Given the description of an element on the screen output the (x, y) to click on. 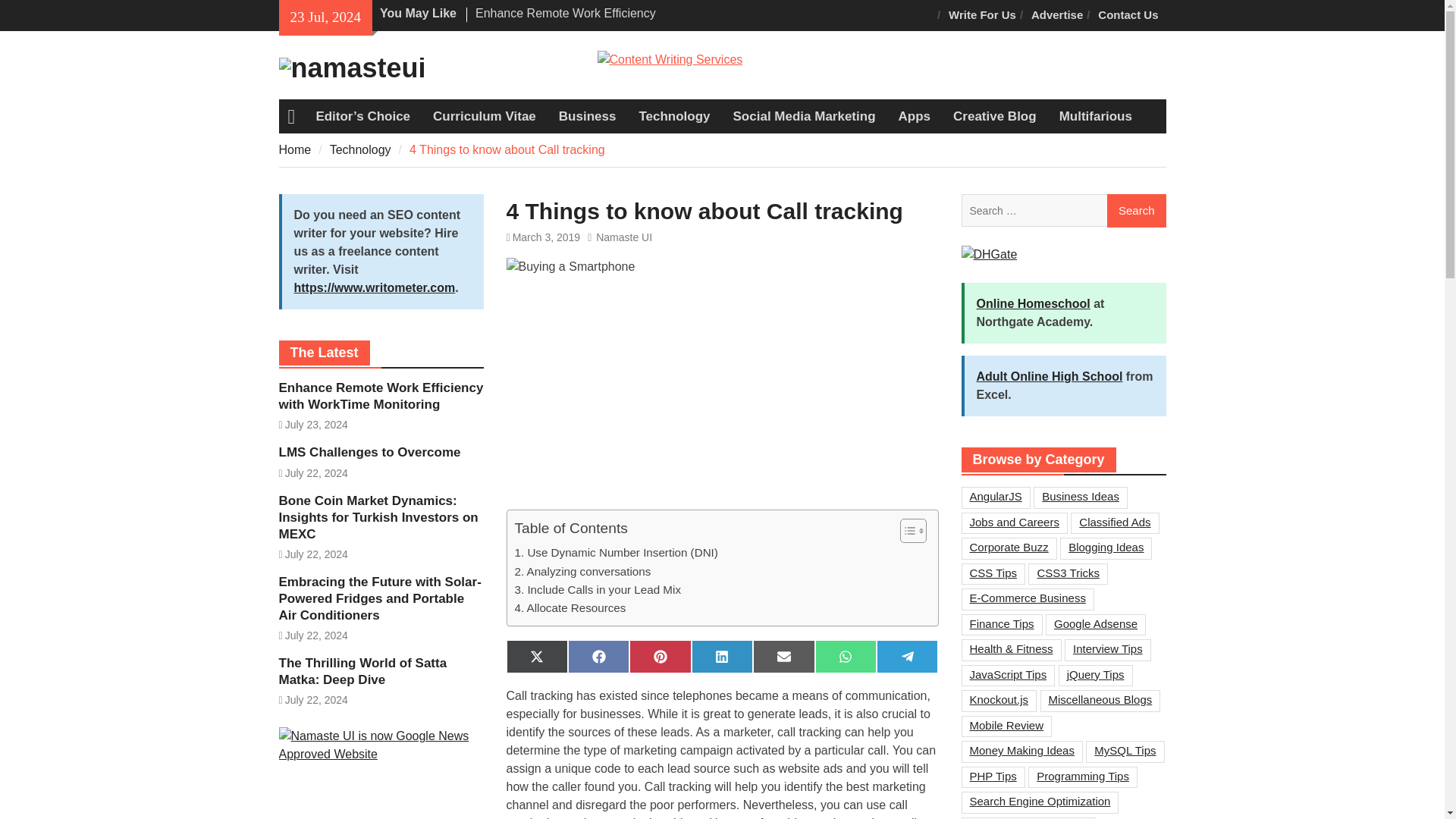
Home (295, 149)
Advertise (1056, 15)
Social Media Marketing (804, 116)
Technology (673, 116)
4. Allocate Resources (569, 607)
Business (587, 116)
Share on LinkedIn (721, 656)
Share on Facebook (597, 656)
Social Media Marketing (804, 116)
Search (1136, 210)
WritoMeter - Best Content Writing Agency (669, 58)
Search (1136, 210)
Multifarious (1095, 116)
Share on Telegram (906, 656)
Enhance Remote Work Efficiency with WorkTime Monitoring (566, 21)
